Given the description of an element on the screen output the (x, y) to click on. 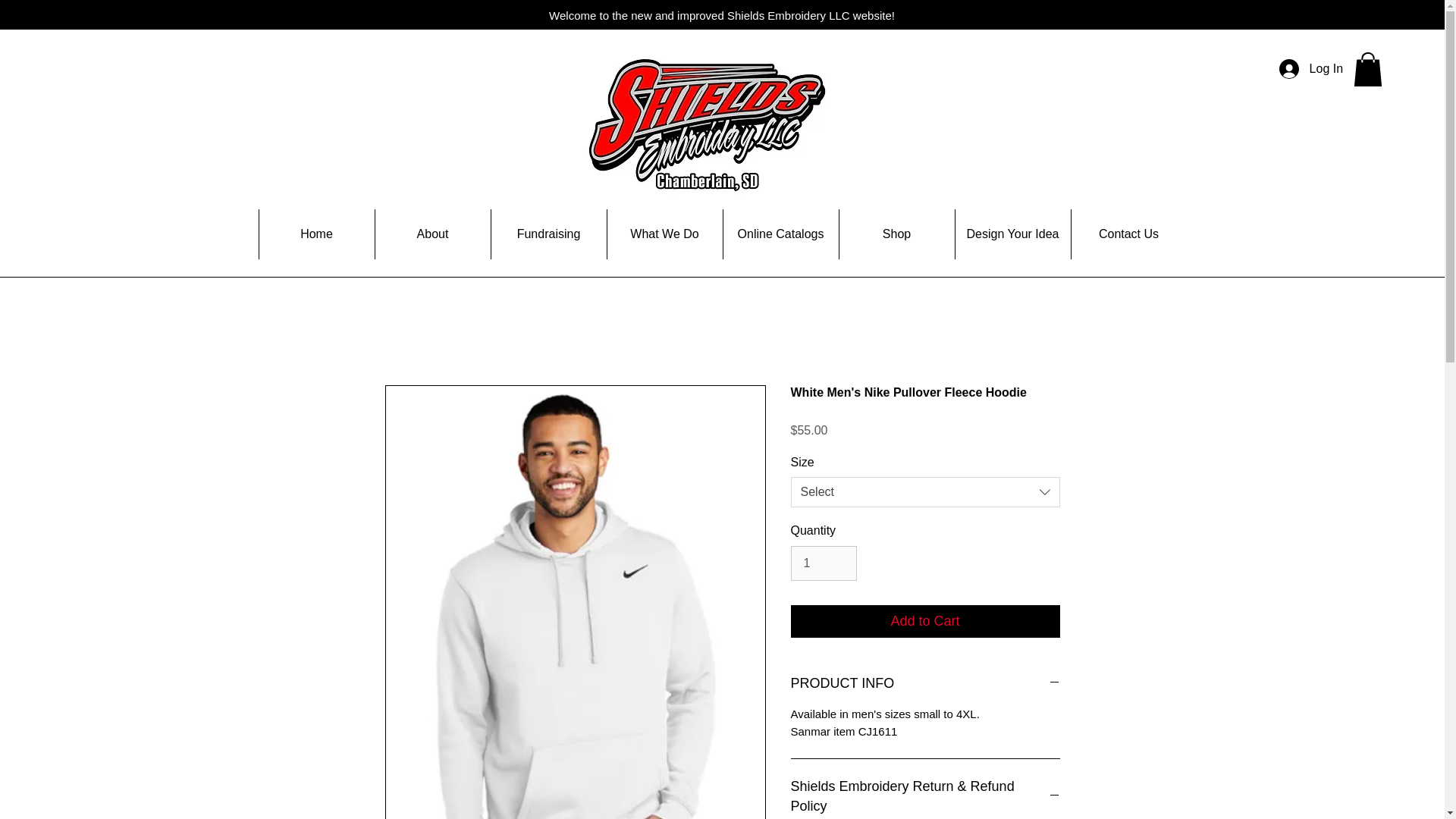
About (432, 234)
Log In (1311, 68)
Design Your Idea (1011, 234)
1 (823, 563)
Add to Cart (924, 621)
What We Do (664, 234)
Online Catalogs (780, 234)
Select (924, 491)
Shop (896, 234)
Contact Us (1128, 234)
PRODUCT INFO (924, 683)
Fundraising (547, 234)
Home (315, 234)
